Given the description of an element on the screen output the (x, y) to click on. 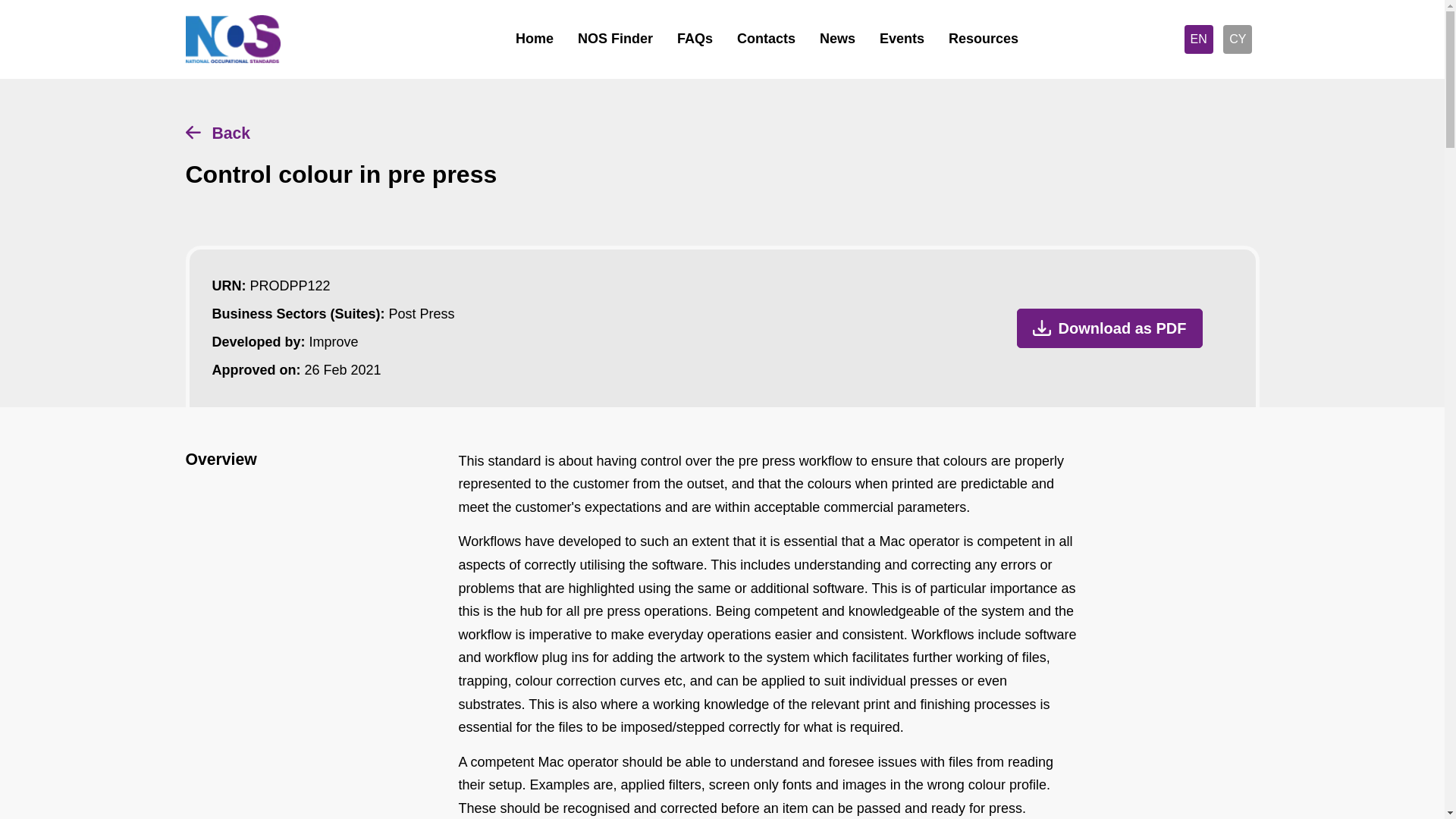
News (837, 38)
Events (901, 38)
Back (721, 133)
NOS Finder (615, 38)
Contacts (766, 38)
Home (534, 38)
CY (1237, 39)
FAQs (695, 38)
Resources (983, 38)
EN (1198, 39)
